Given the description of an element on the screen output the (x, y) to click on. 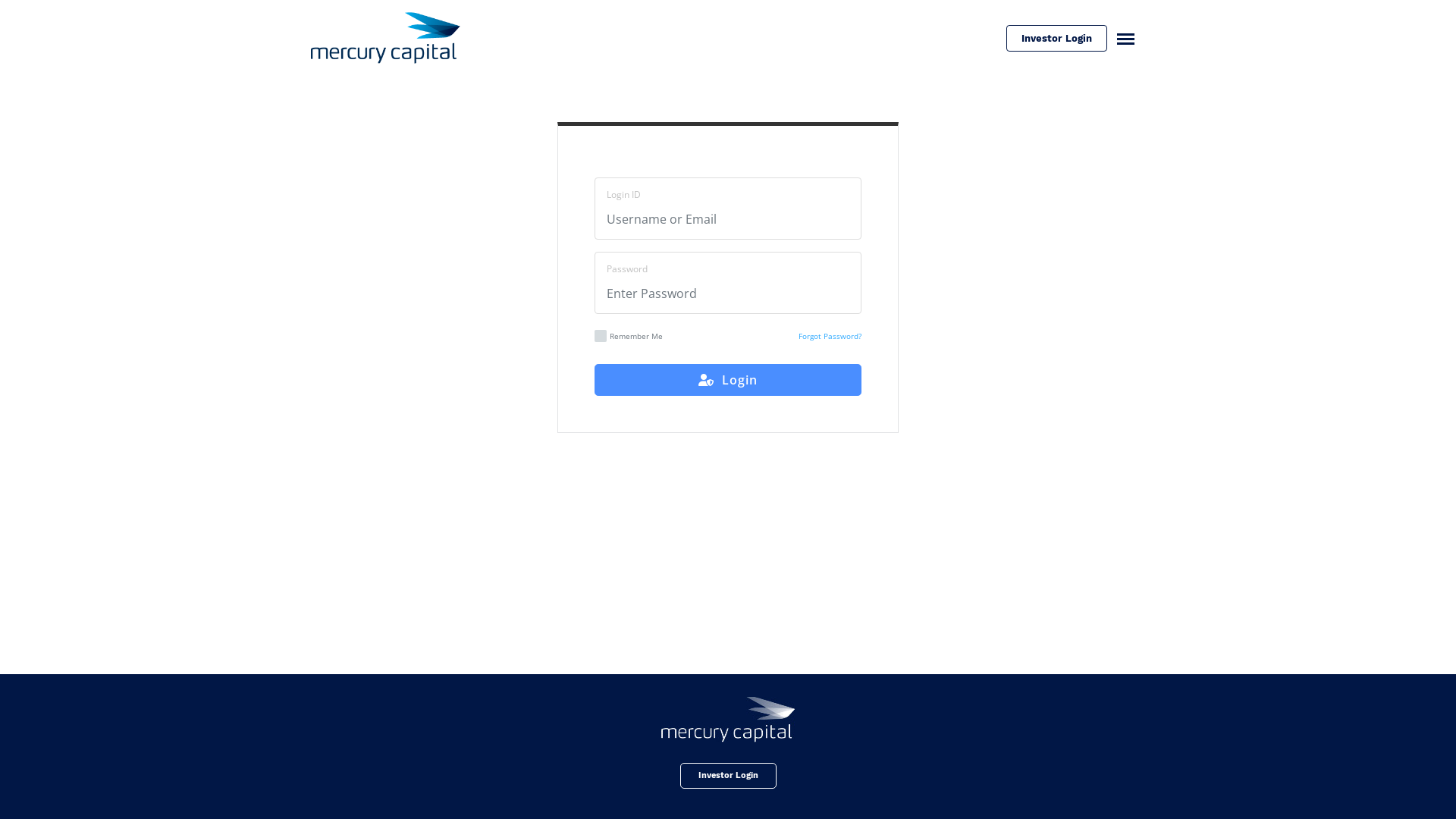
Investor Login Element type: text (727, 775)
Forgot Password? Element type: text (829, 335)
 Login Element type: text (727, 379)
Investor Login Element type: text (1056, 37)
  Element type: text (1119, 37)
